Given the description of an element on the screen output the (x, y) to click on. 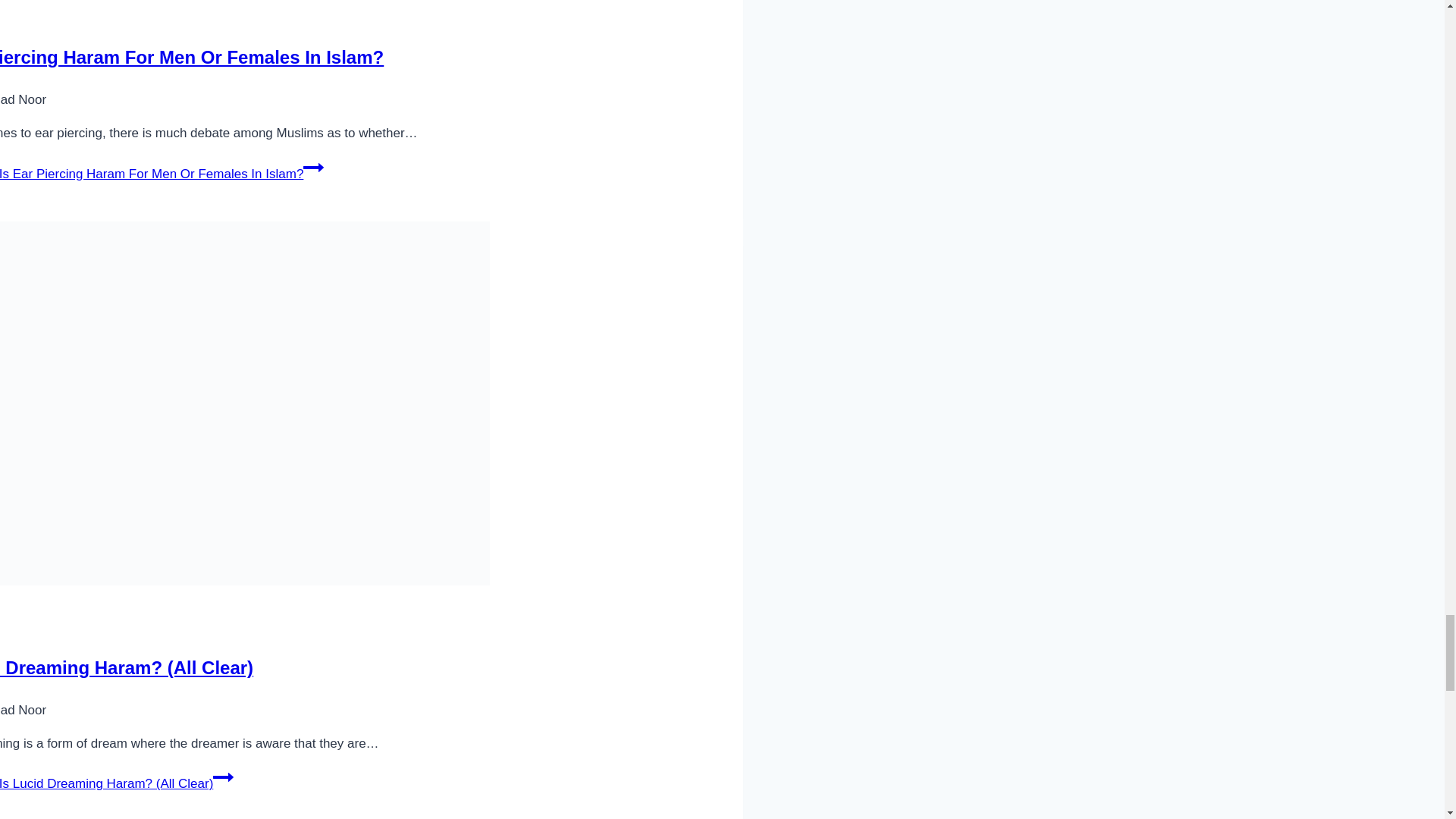
Continue (312, 167)
Continue (222, 776)
